Given the description of an element on the screen output the (x, y) to click on. 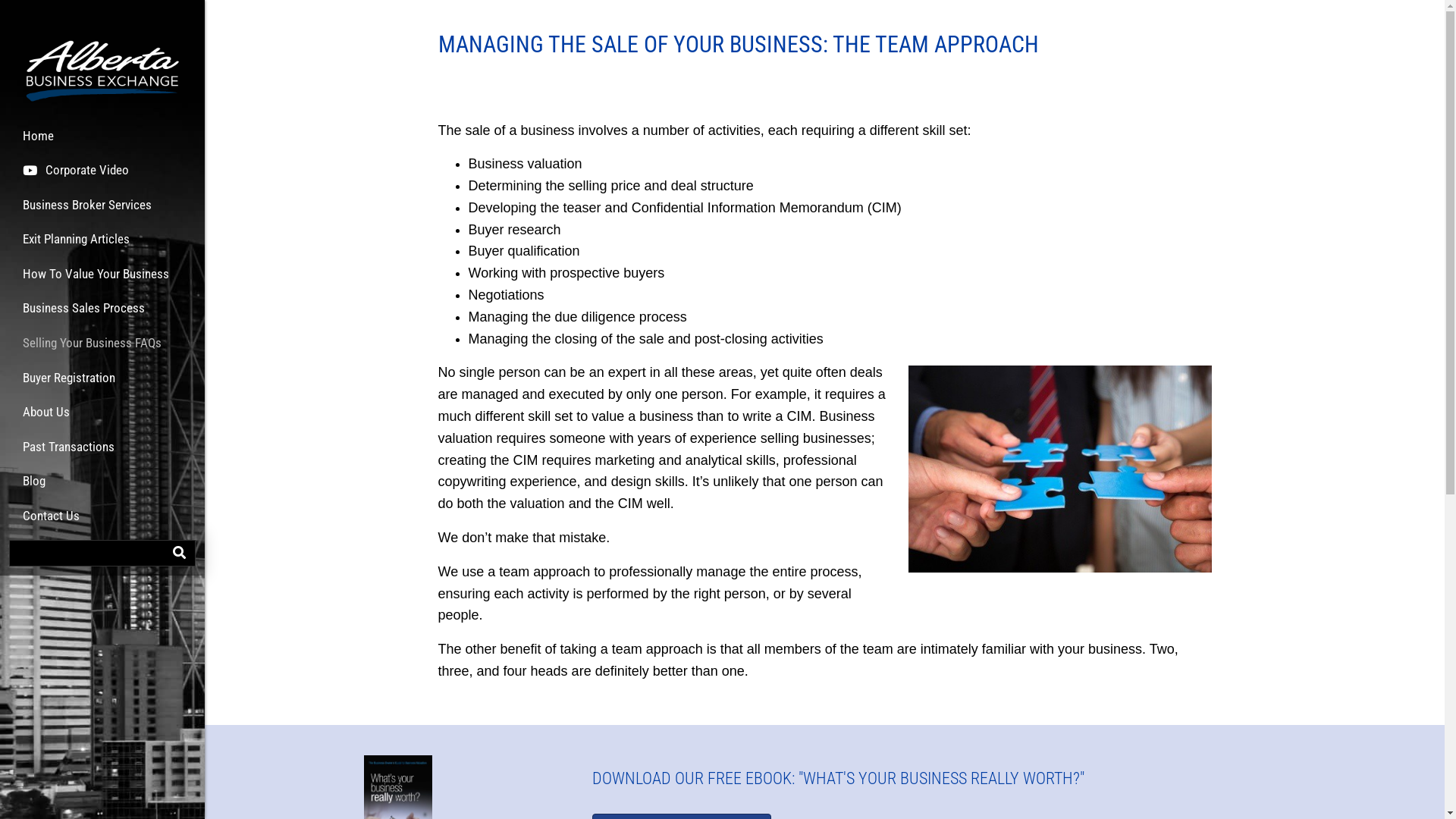
Business Sales Process Element type: text (83, 314)
Exit Planning Articles Element type: text (76, 245)
Corporate Video Element type: text (75, 176)
About Us Element type: text (46, 418)
How To Value Your Business Element type: text (95, 279)
Selling Your Business FAQs Element type: text (92, 349)
Contact Us Element type: text (51, 521)
Home Element type: text (38, 141)
Past Transactions Element type: text (68, 452)
Type and press Enter to search. Element type: hover (102, 552)
Blog Element type: text (34, 487)
Buyer Registration Element type: text (69, 383)
Business Broker Services Element type: text (87, 210)
